Given the description of an element on the screen output the (x, y) to click on. 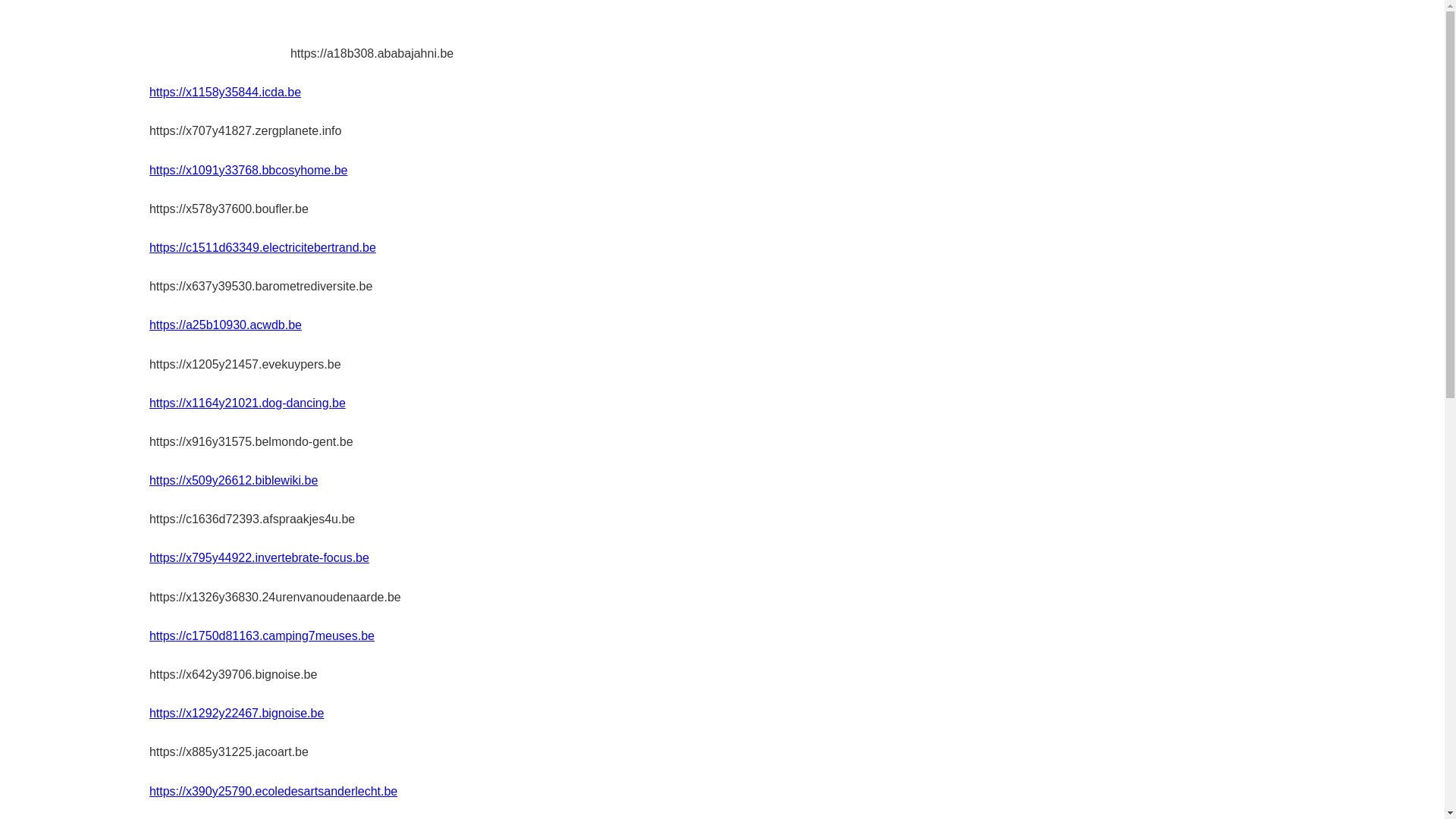
https://c1511d63349.electricitebertrand.be Element type: text (262, 247)
https://x509y26612.biblewiki.be Element type: text (233, 479)
https://c1750d81163.camping7meuses.be Element type: text (261, 635)
https://x1158y35844.icda.be Element type: text (225, 91)
https://x1164y21021.dog-dancing.be Element type: text (247, 402)
https://a25b10930.acwdb.be Element type: text (225, 324)
https://x1292y22467.bignoise.be Element type: text (236, 712)
https://x1091y33768.bbcosyhome.be Element type: text (248, 169)
bignoise.be Element type: text (219, 34)
https://x390y25790.ecoledesartsanderlecht.be Element type: text (273, 790)
https://x795y44922.invertebrate-focus.be Element type: text (259, 557)
